Given the description of an element on the screen output the (x, y) to click on. 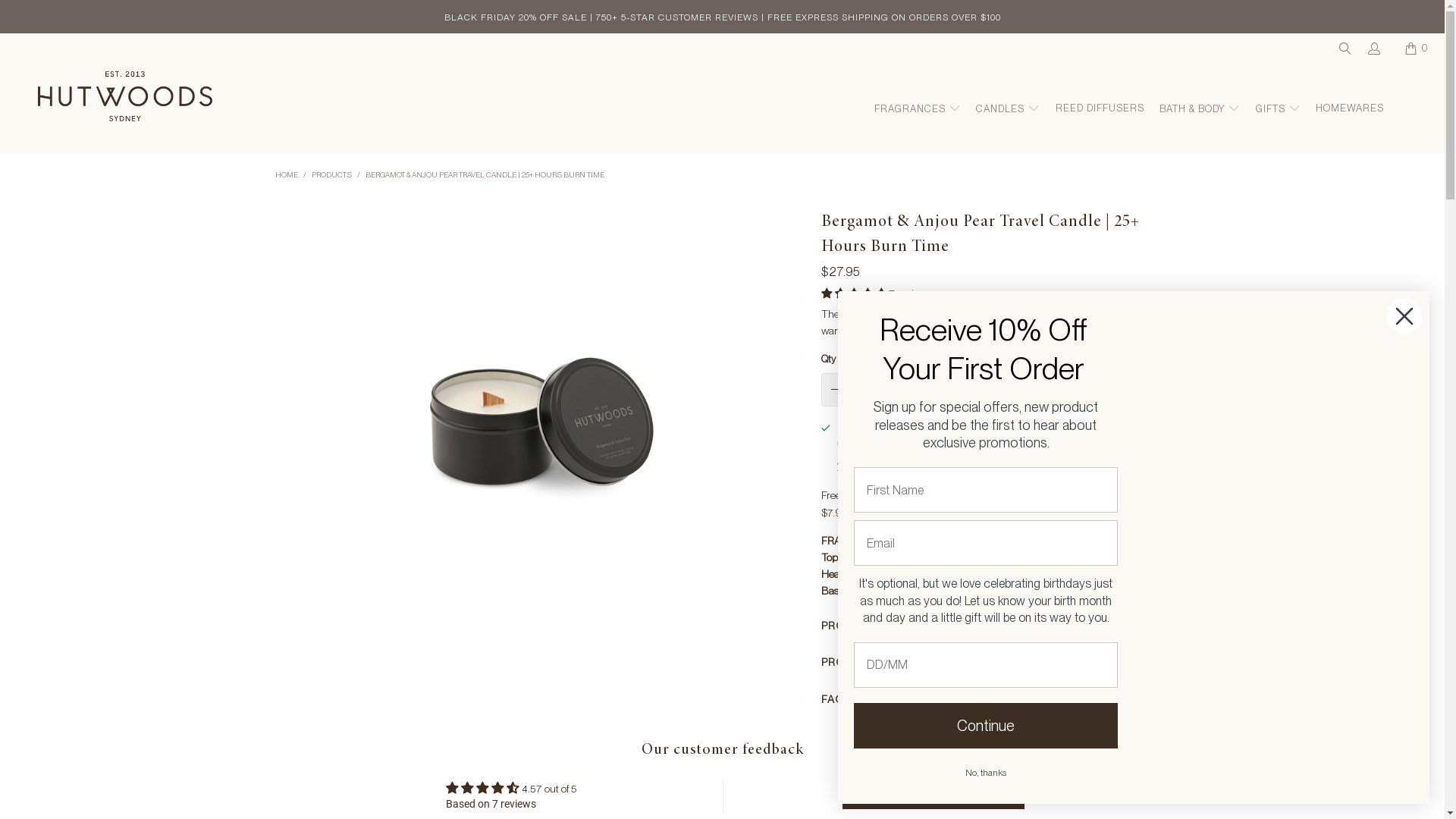
Continue Element type: text (985, 725)
My Account  Element type: hover (1373, 48)
HOMEWARES Element type: text (1349, 108)
Submit Element type: text (23, 9)
Search Element type: hover (1343, 48)
0 Element type: text (1417, 48)
REED DIFFUSERS Element type: text (1099, 108)
hutwoods.com.au  Element type: hover (113, 102)
ADD TO CART Element type: text (999, 388)
HOME Element type: text (285, 173)
Write a review Element type: text (933, 795)
BERGAMOT & ANJOU PEAR TRAVEL CANDLE | 25+ HOURS BURN TIME Element type: text (484, 173)
Hutwoods Element type: hover (1281, 547)
PRODUCTS Element type: text (330, 173)
View store information Element type: text (880, 466)
